Given the description of an element on the screen output the (x, y) to click on. 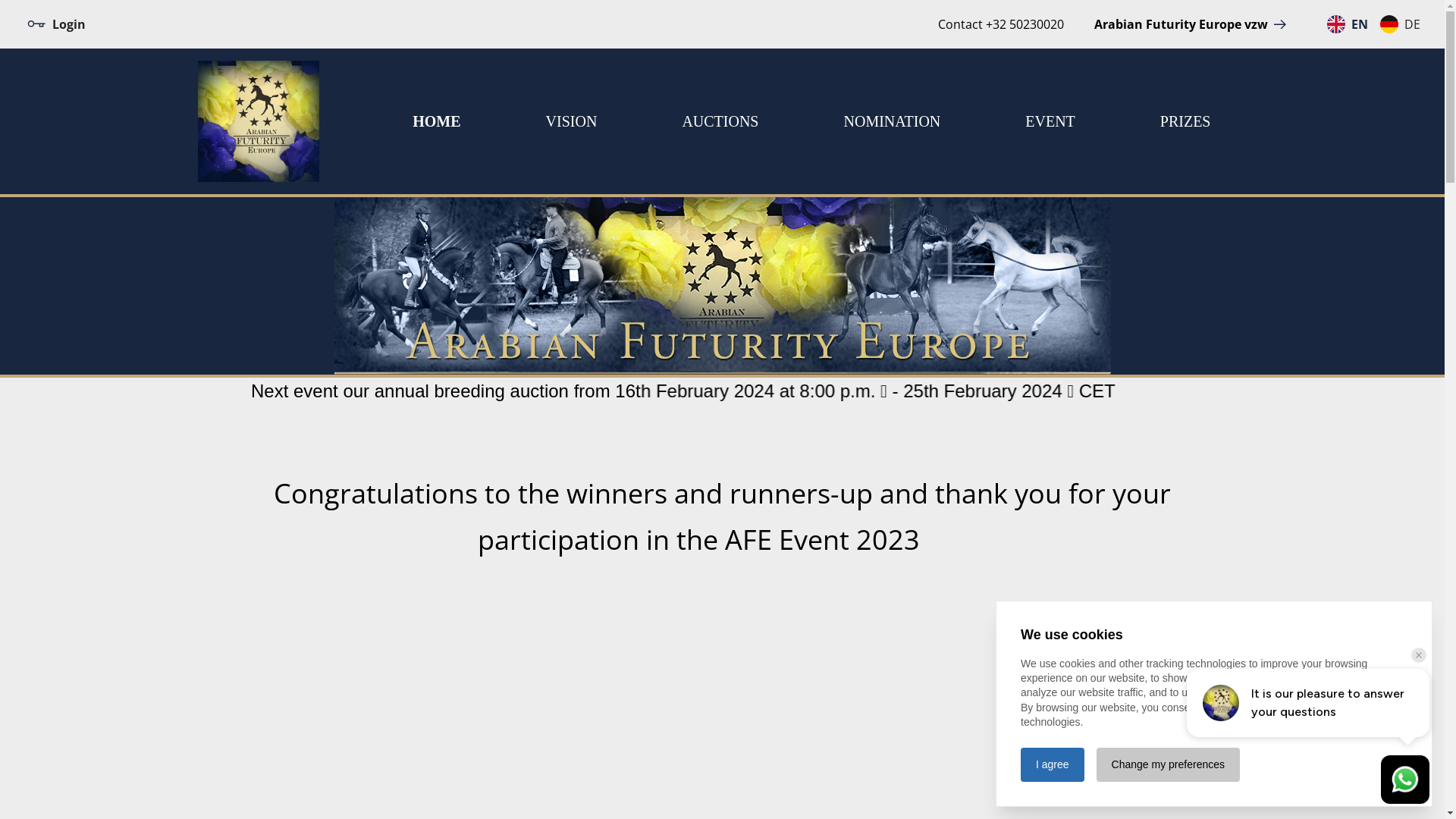
DE Element type: text (1400, 24)
Arabian Futurity Europe vzw Element type: text (1192, 24)
NOMINATION Element type: text (891, 120)
Change my preferences Element type: text (1167, 764)
PRIZES Element type: text (1185, 120)
AUCTIONS Element type: text (719, 120)
I agree Element type: text (1052, 764)
Contact +32 50230020 Element type: text (1000, 24)
VISION Element type: text (571, 120)
HOME Element type: text (436, 120)
EVENT Element type: text (1049, 120)
EN Element type: text (1347, 24)
Login Element type: text (56, 24)
